Given the description of an element on the screen output the (x, y) to click on. 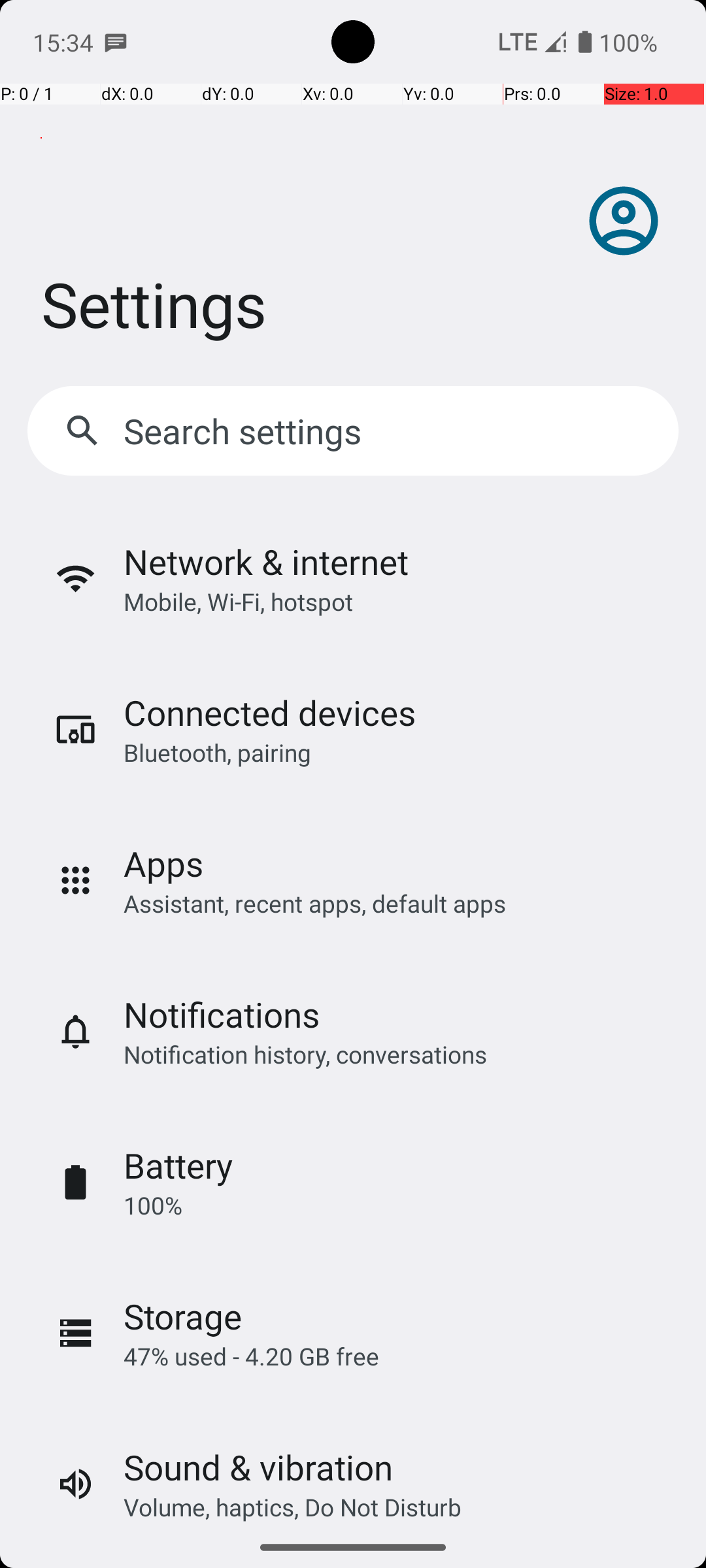
47% used - 4.20 GB free Element type: android.widget.TextView (251, 1355)
